Given the description of an element on the screen output the (x, y) to click on. 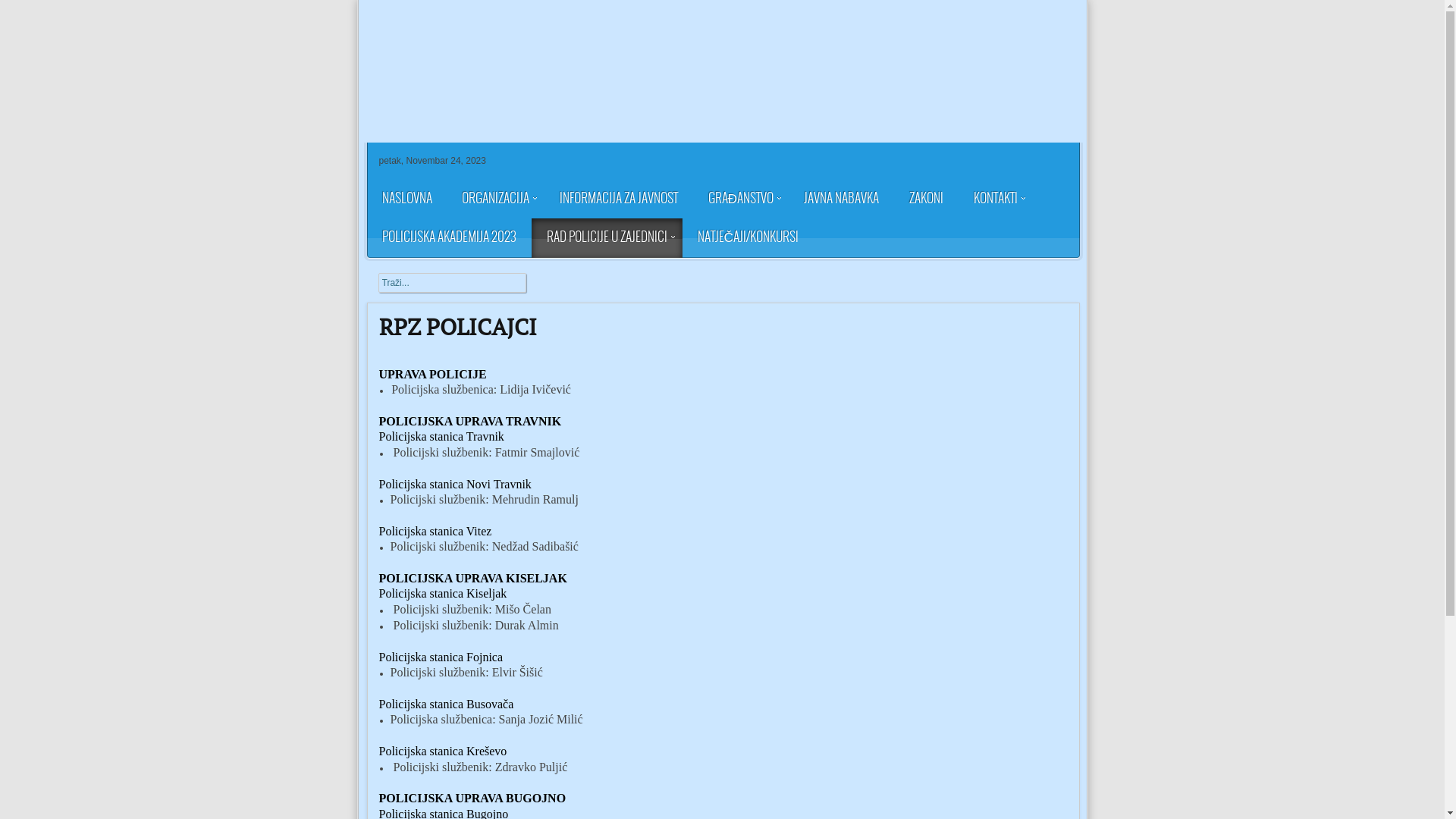
Policijska stanica Vitez Element type: text (435, 530)
POLICIJSKA UPRAVA BUGOJNO Element type: text (472, 797)
POLICIJSKA UPRAVA TRAVNIK Element type: text (470, 420)
UPRAVA POLICIJE Element type: text (432, 373)
NASLOVNA Element type: text (407, 198)
ORGANIZACIJA Element type: text (494, 198)
Policijska stanica Novi Travnik Element type: text (455, 483)
Policijska stanica Kiseljak Element type: text (443, 592)
KONTAKTI Element type: text (995, 198)
POLICIJSKA AKADEMIJA 2023 Element type: text (449, 237)
POLICIJSKA UPRAVA KISELJAK Element type: text (473, 577)
RPZ POLICAJCI Element type: text (457, 326)
JAVNA NABAVKA Element type: text (841, 198)
Policijska stanica Fojnica Element type: text (441, 656)
RAD POLICIJE U ZAJEDNICI Element type: text (605, 237)
Policijska stanica Travnik Element type: text (441, 435)
INFORMACIJA ZA JAVNOST Element type: text (618, 198)
ZAKONI Element type: text (926, 198)
